Given the description of an element on the screen output the (x, y) to click on. 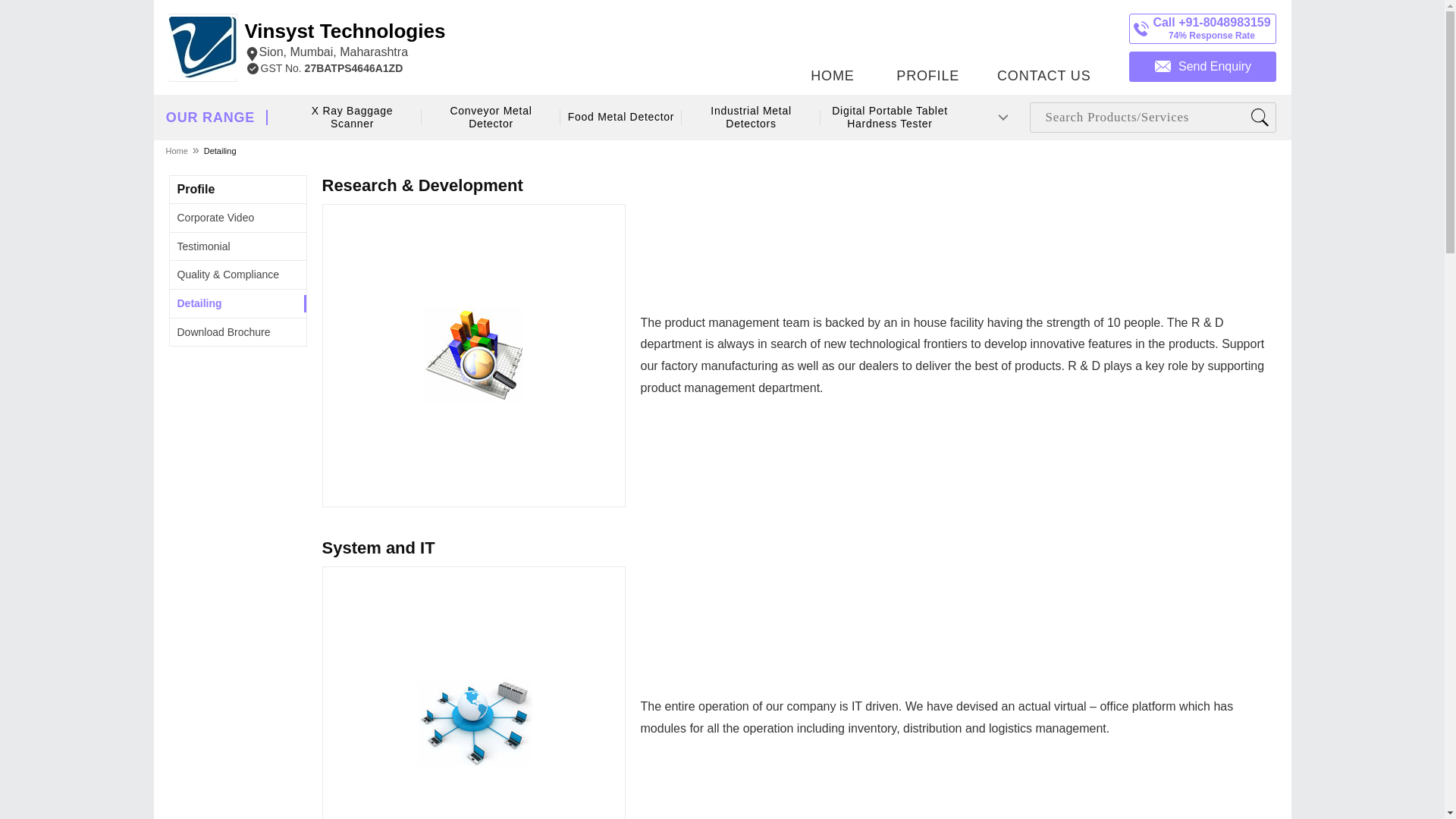
OUR RANGE (209, 117)
Detailing (199, 303)
PROFILE (927, 43)
Digital Portable Tablet Hardness Tester (889, 117)
Corporate Video (215, 217)
Home (176, 150)
Food Metal Detector (620, 117)
Profile (196, 188)
X Ray Baggage Scanner (352, 117)
Conveyor Metal Detector (490, 117)
Testimonial (203, 246)
Detailing (220, 150)
CONTACT US (344, 41)
Download Brochure (1043, 43)
